Given the description of an element on the screen output the (x, y) to click on. 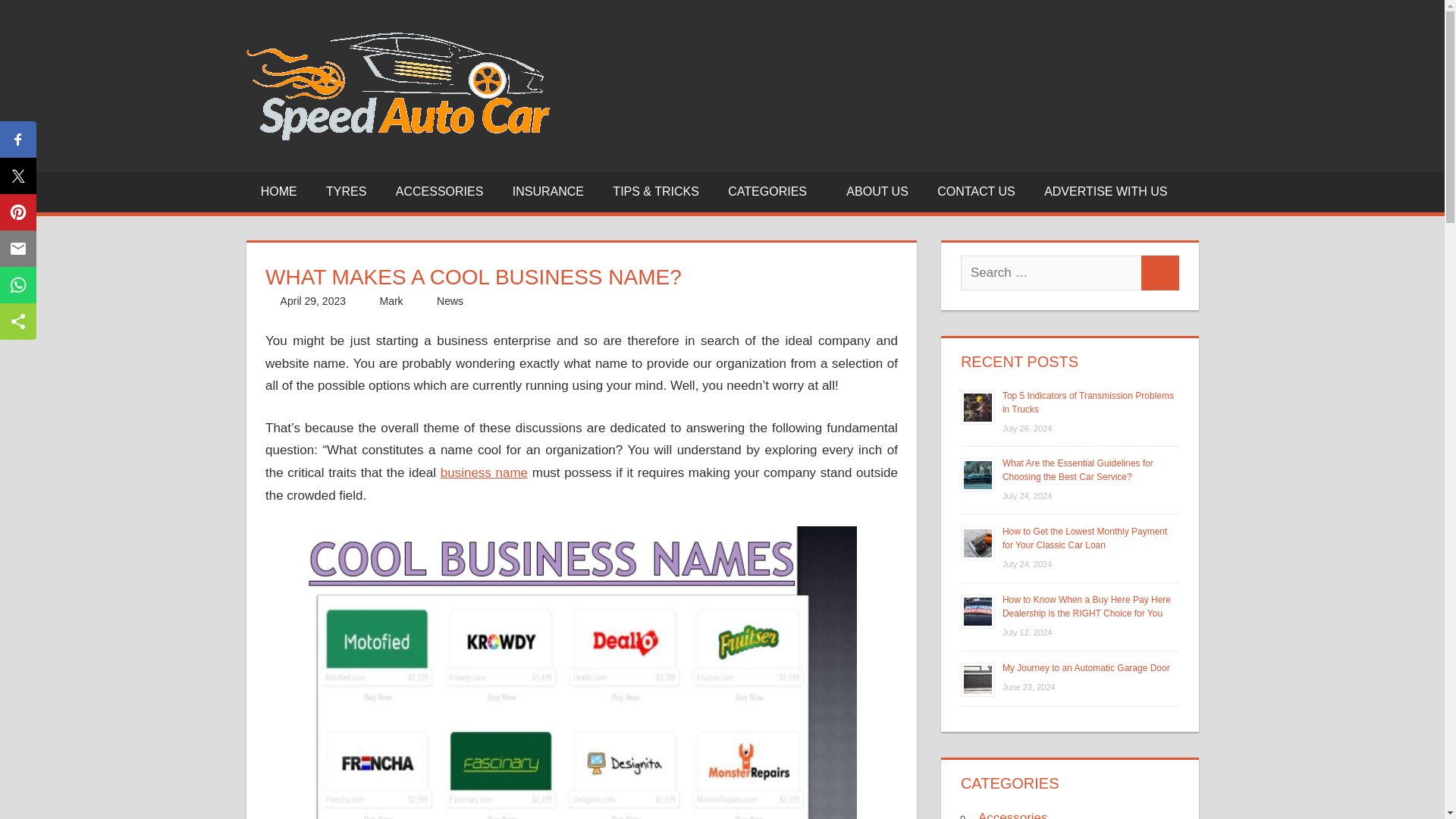
April 29, 2023 (313, 300)
ABOUT US (877, 191)
TYRES (346, 191)
business name (484, 472)
Search for: (1050, 272)
View all posts by Mark (390, 300)
INSURANCE (547, 191)
CATEGORIES (772, 191)
News (449, 300)
HOME (278, 191)
CONTACT US (976, 191)
ADVERTISE WITH US (1105, 191)
ACCESSORIES (439, 191)
4:14 pm (313, 300)
